Given the description of an element on the screen output the (x, y) to click on. 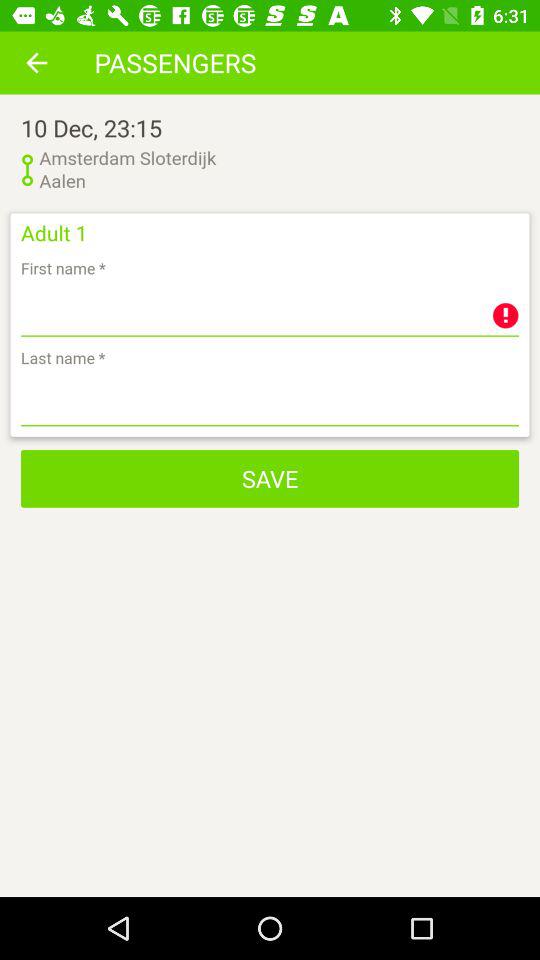
flixbus smart bus travel (270, 399)
